Given the description of an element on the screen output the (x, y) to click on. 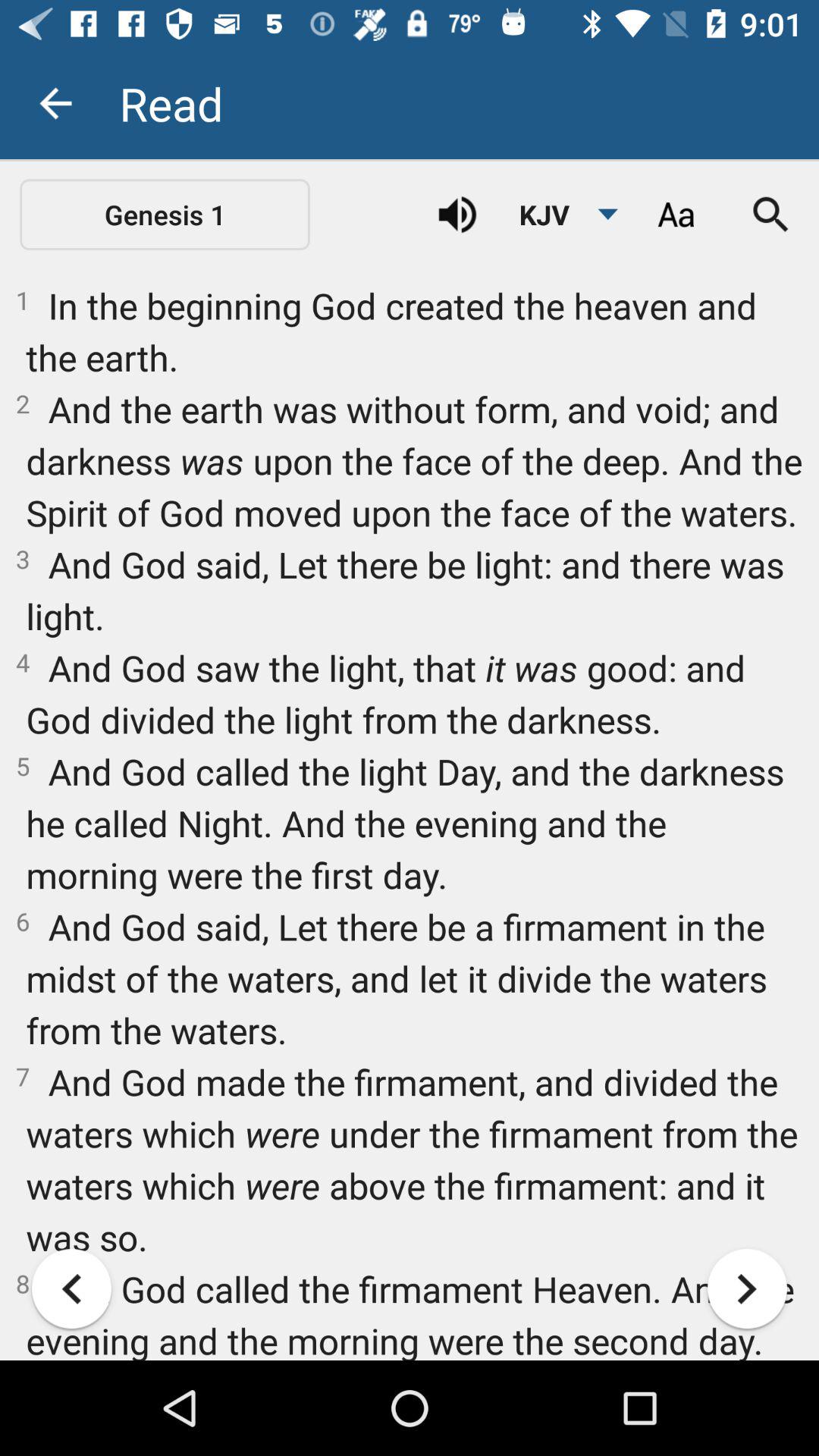
text settings (675, 214)
